Given the description of an element on the screen output the (x, y) to click on. 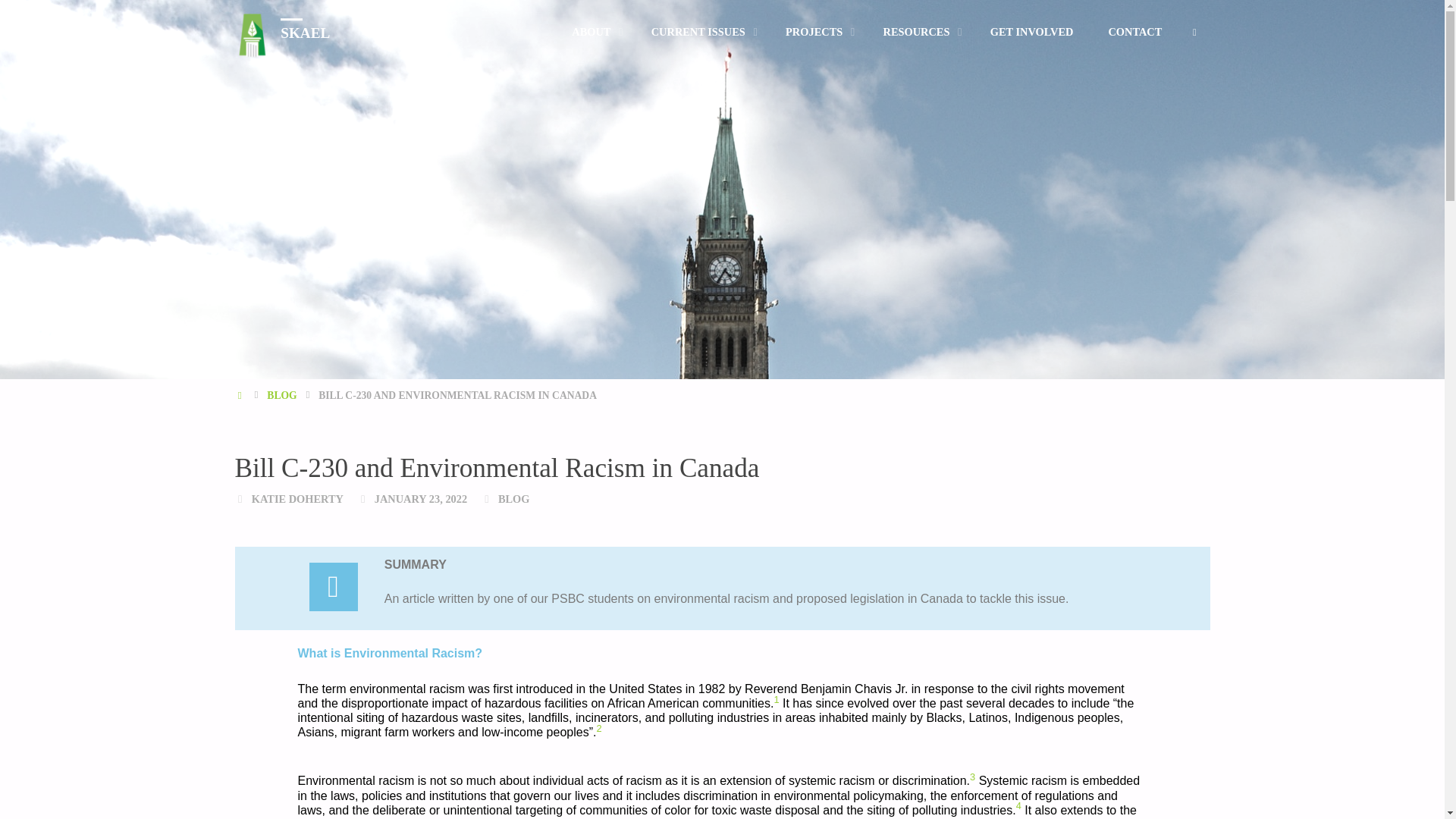
Home (241, 395)
ABOUT (593, 32)
Inform. Sustain. Advocate. (305, 32)
PROJECTS (816, 32)
View all posts by Katie Doherty (297, 499)
SKAEL (251, 31)
SKAEL (305, 32)
CURRENT ISSUES (700, 32)
